Given the description of an element on the screen output the (x, y) to click on. 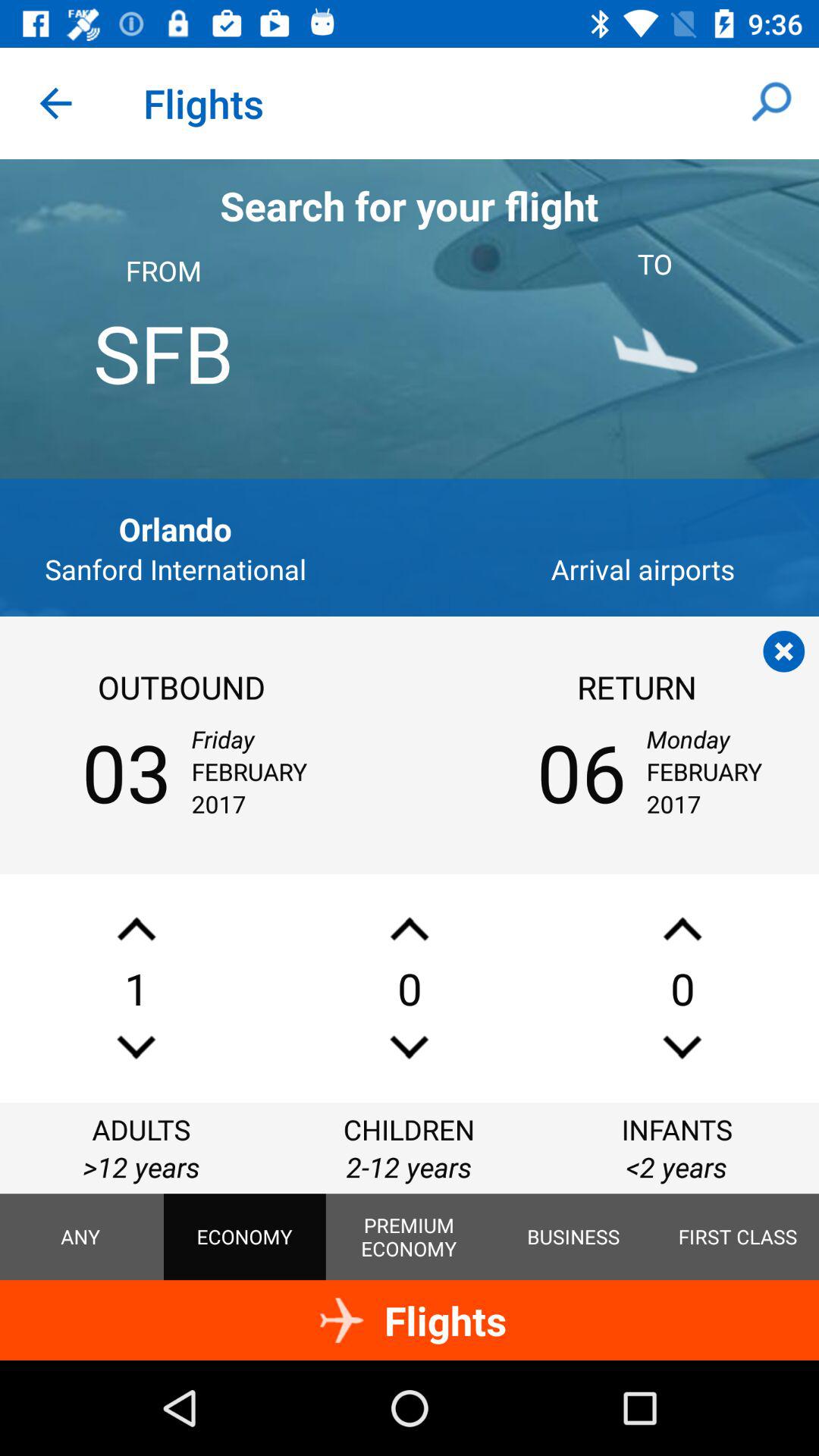
increase number of adults (136, 928)
